Given the description of an element on the screen output the (x, y) to click on. 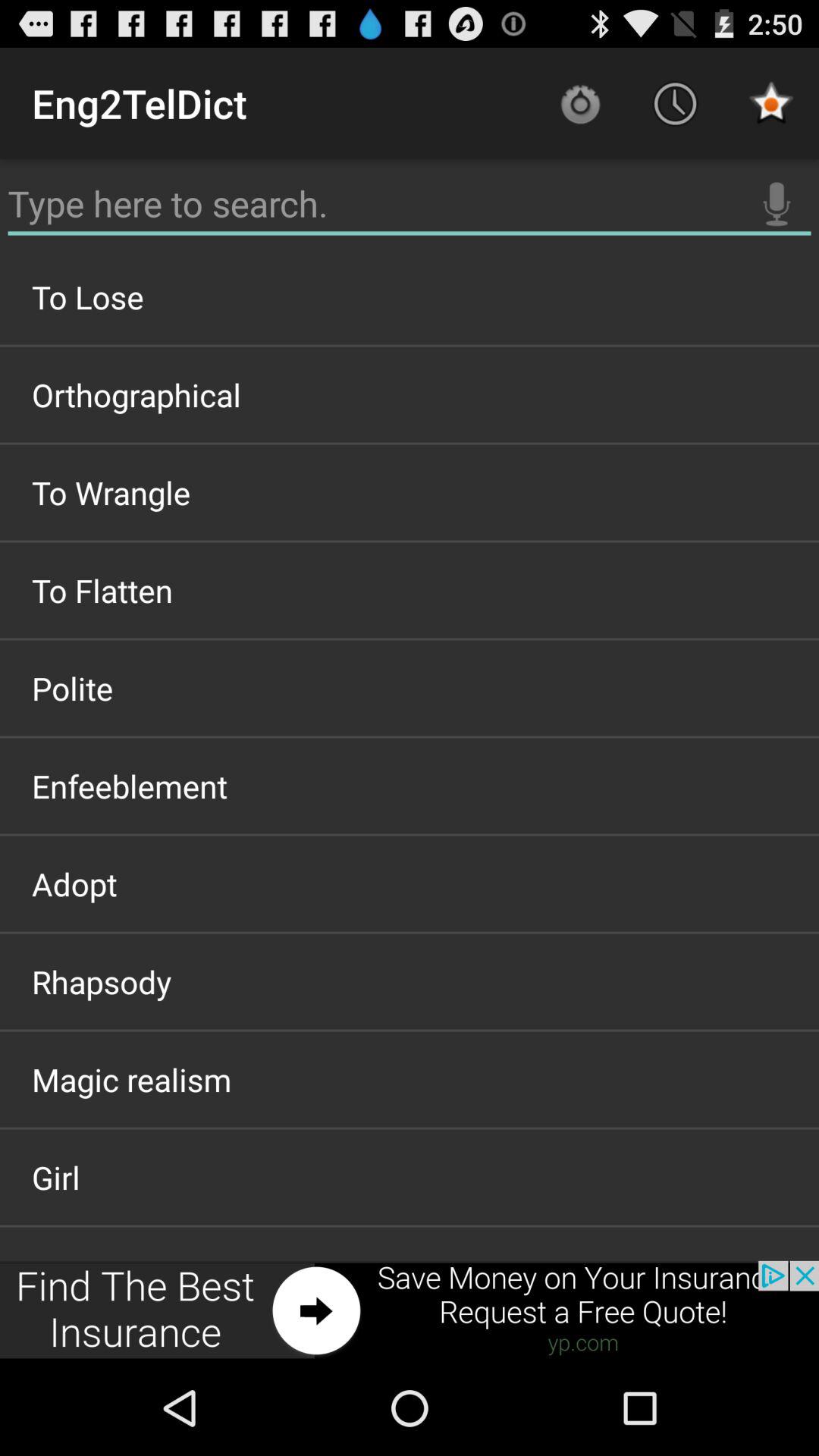
tap the enfeeblement item (409, 785)
